Given the description of an element on the screen output the (x, y) to click on. 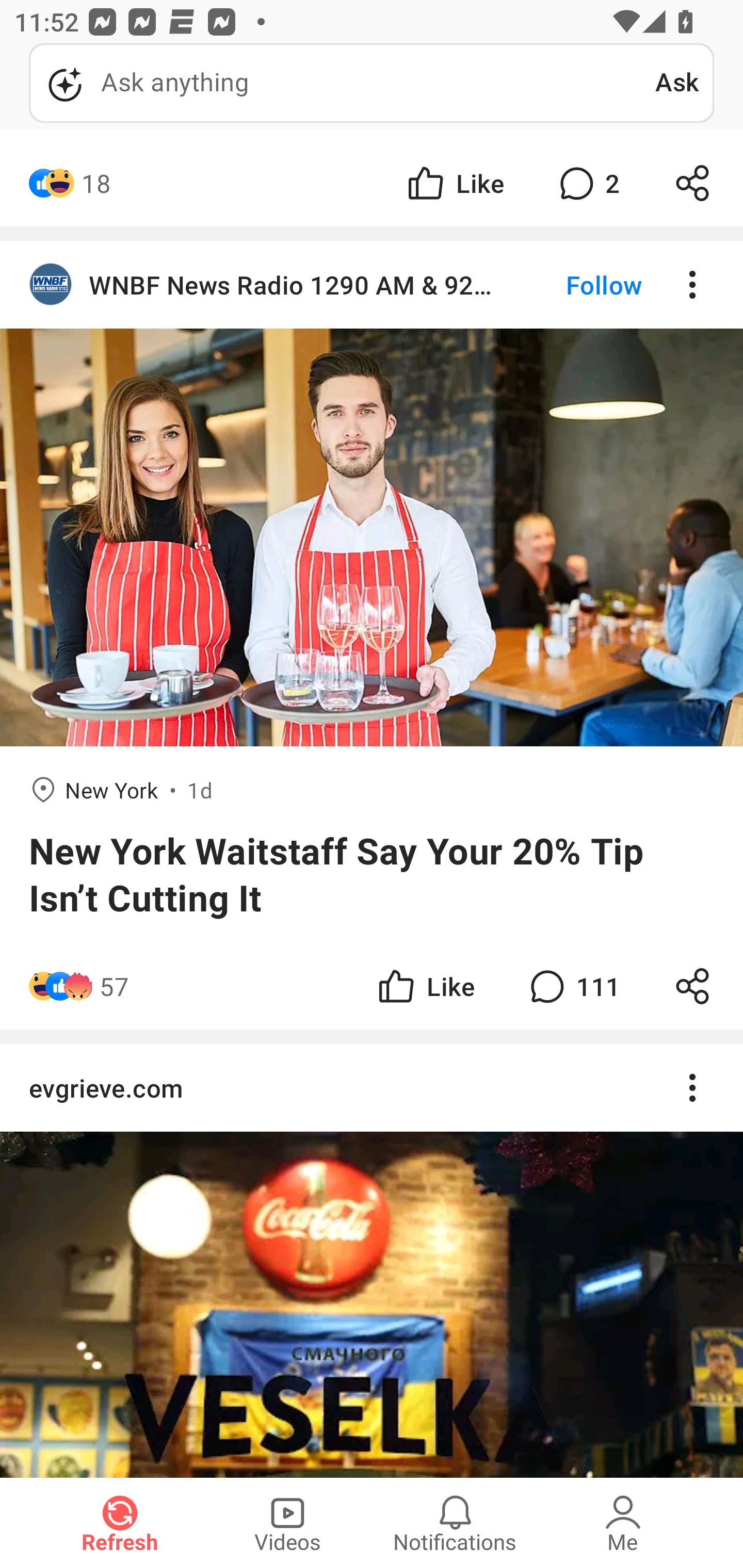
Ask anything (341, 82)
18 (95, 182)
Like (454, 182)
2 (587, 182)
WNBF News Radio 1290 AM & 92.1 FM Follow (371, 285)
Follow (569, 285)
57 (114, 986)
Like (425, 986)
111 (572, 986)
evgrieve.com (371, 1260)
evgrieve.com (371, 1088)
Videos (287, 1522)
Notifications (455, 1522)
Me (622, 1522)
